Given the description of an element on the screen output the (x, y) to click on. 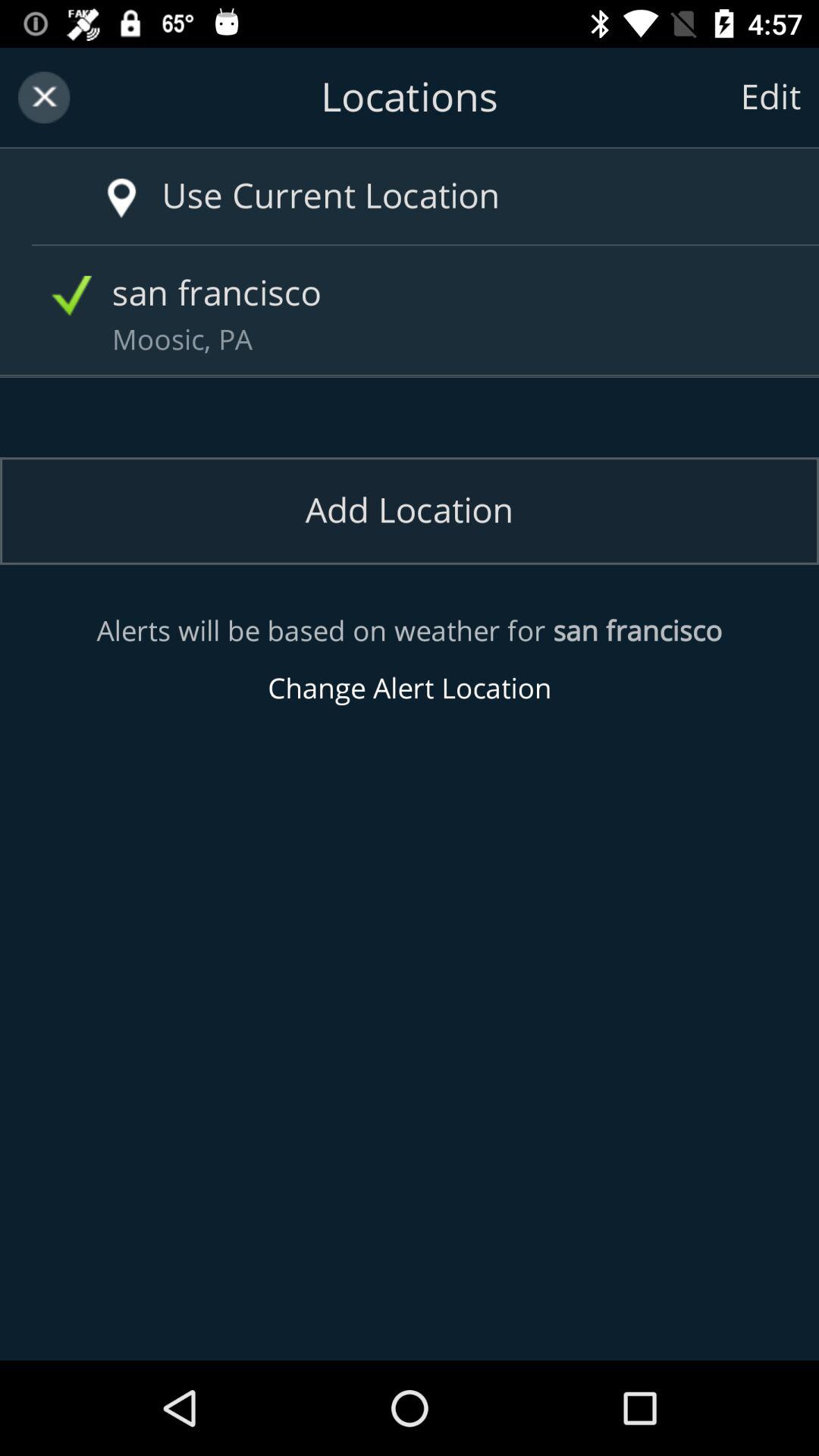
close the window (43, 97)
